Given the description of an element on the screen output the (x, y) to click on. 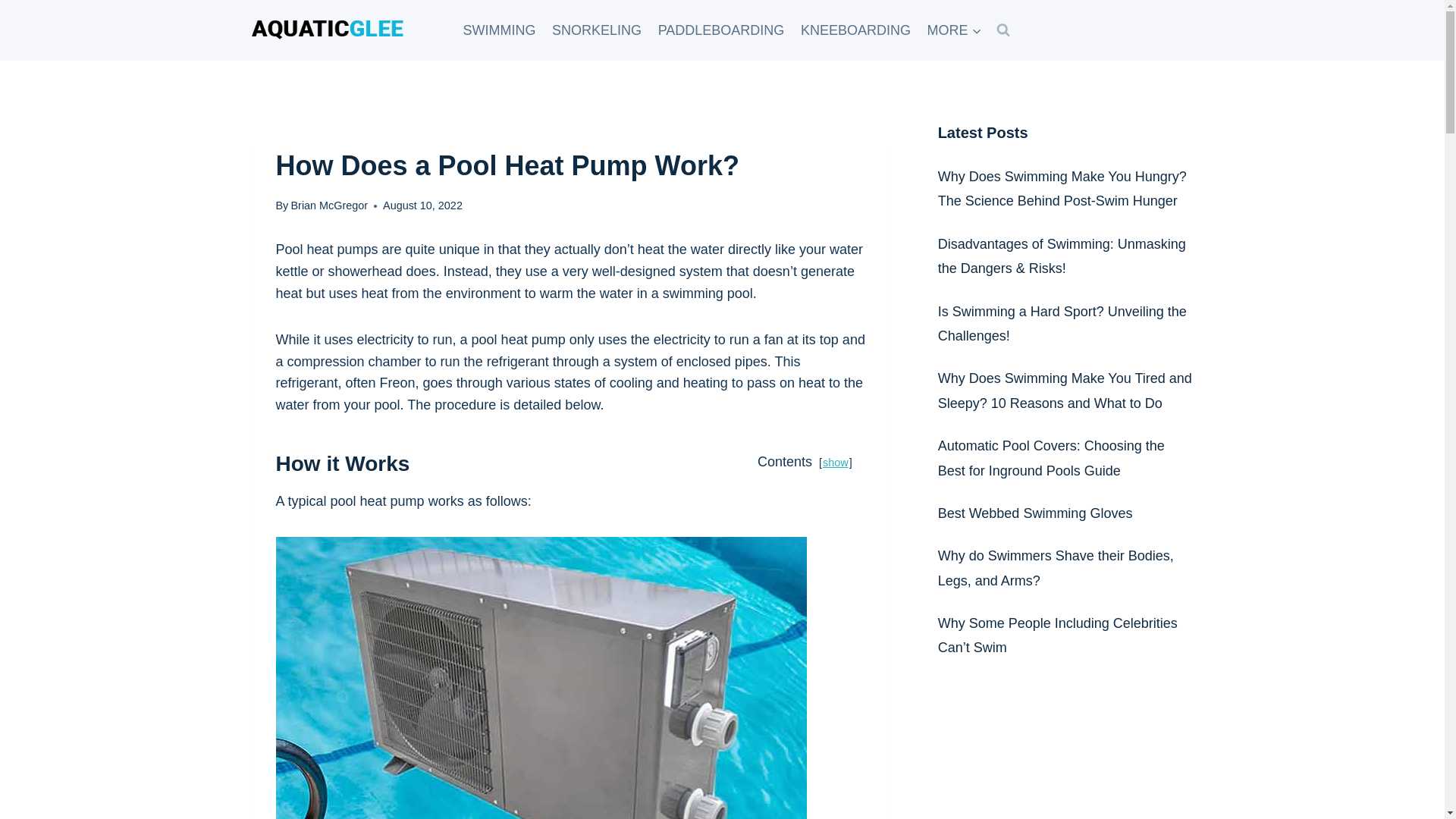
show (835, 462)
PADDLEBOARDING (720, 30)
Brian McGregor (328, 205)
KNEEBOARDING (855, 30)
SNORKELING (596, 30)
MORE (954, 30)
SWIMMING (499, 30)
